Given the description of an element on the screen output the (x, y) to click on. 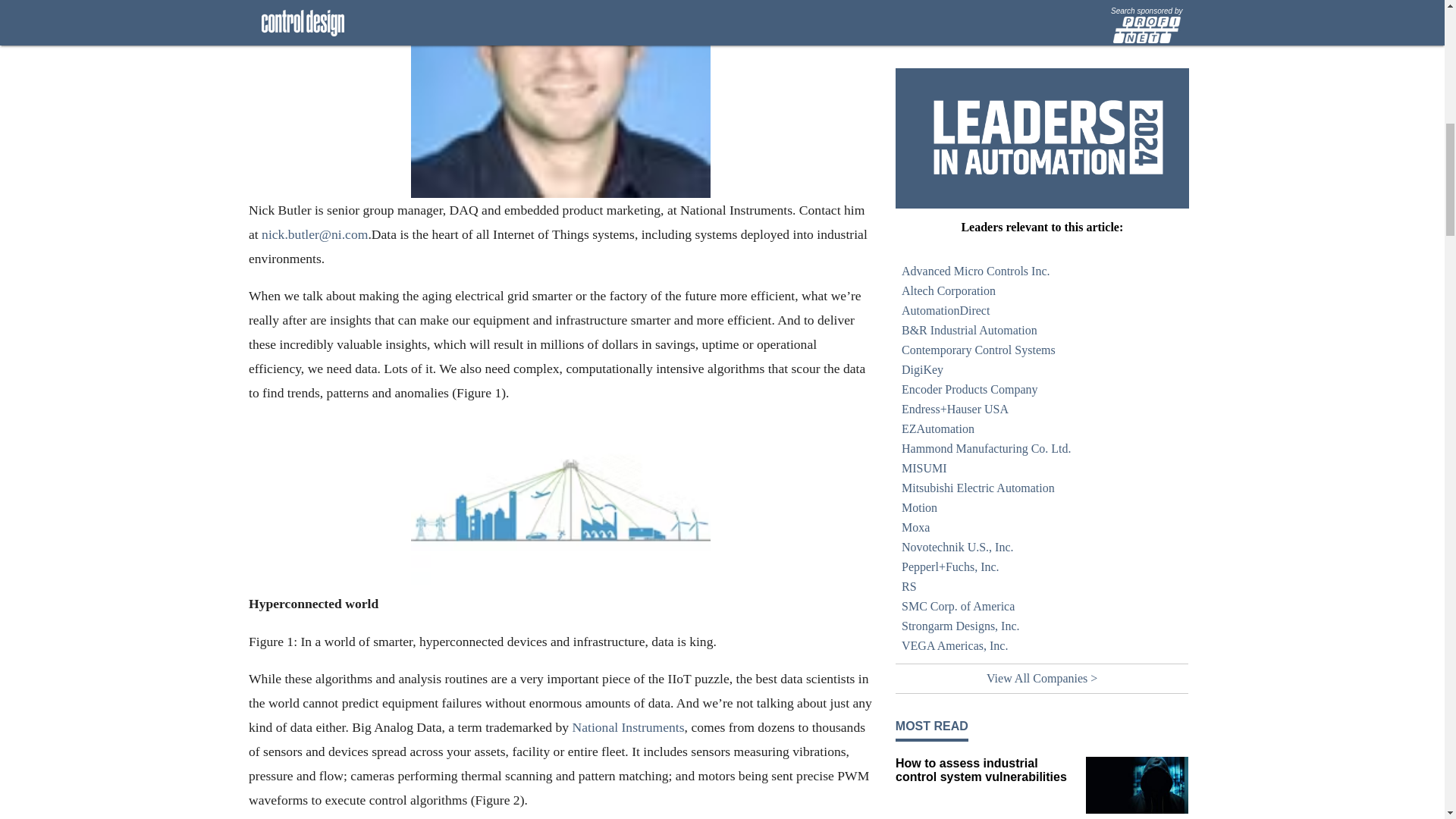
National Instruments (628, 726)
Nick-Butler (560, 99)
CD-1607-Figure-1-Control-Design (560, 500)
